Given the description of an element on the screen output the (x, y) to click on. 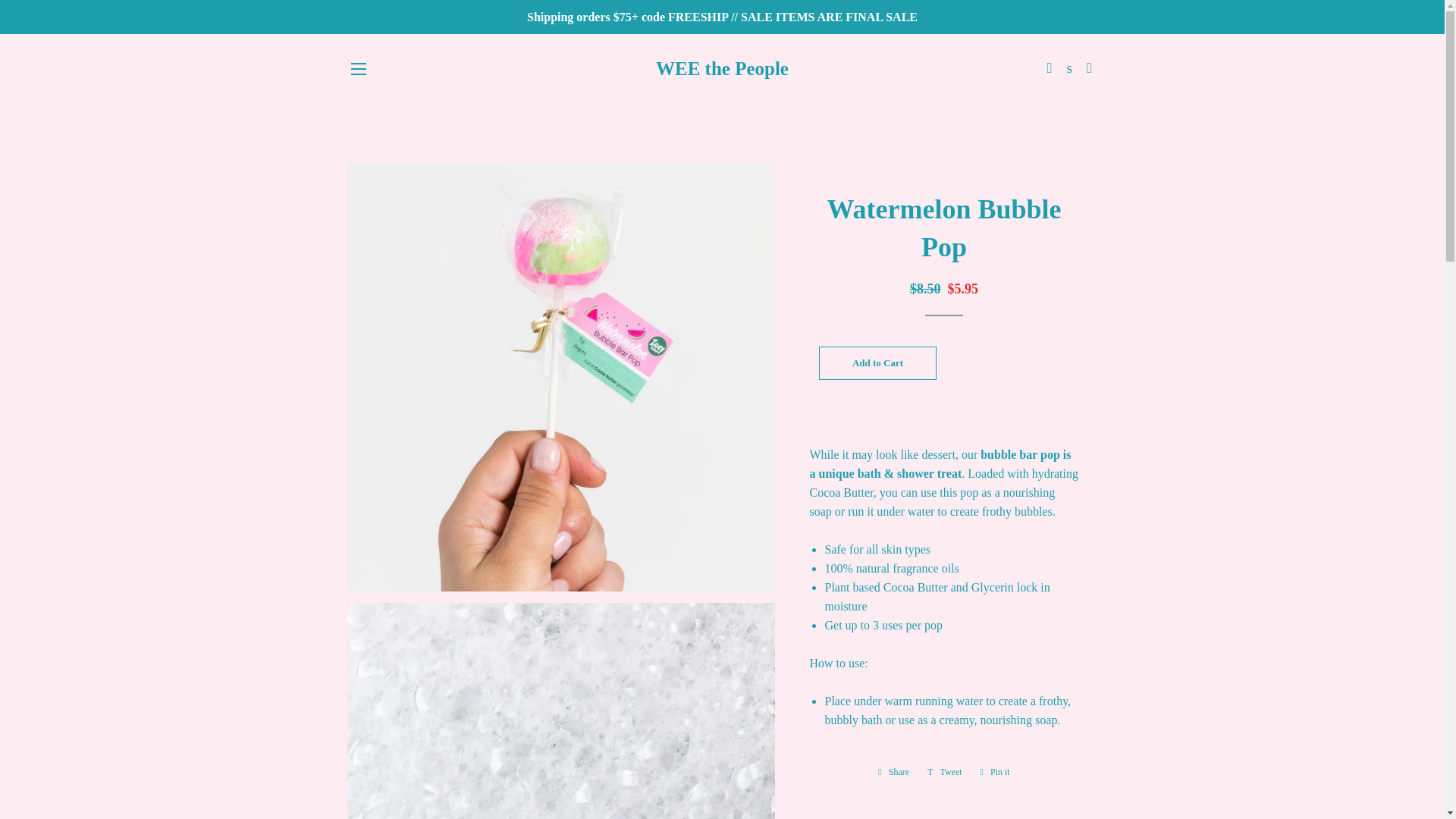
Pin on Pinterest (994, 771)
Share on Facebook (893, 771)
Tweet on Twitter (944, 771)
